Given the description of an element on the screen output the (x, y) to click on. 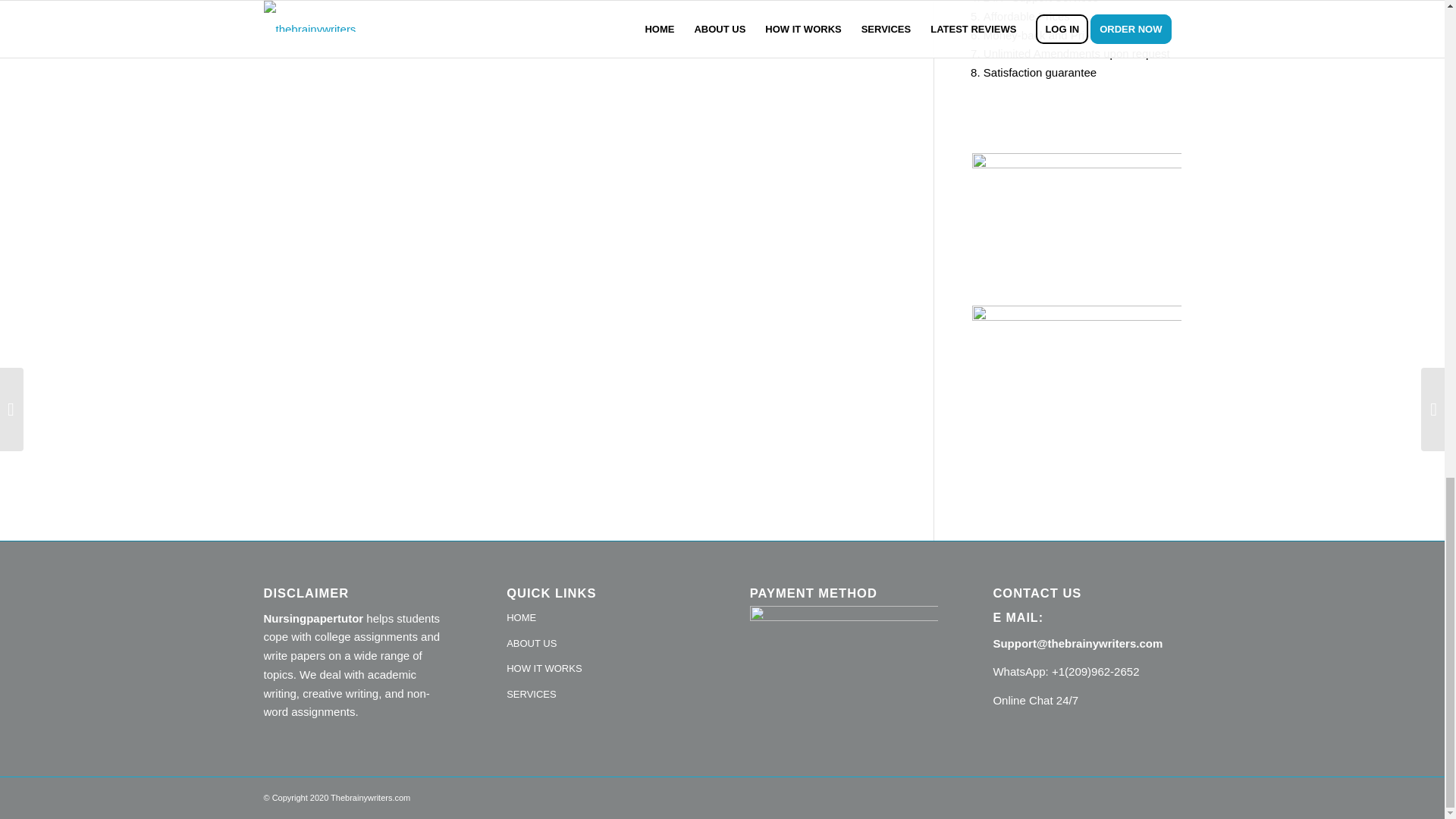
HOW IT WORKS (600, 669)
SERVICES (600, 695)
ABOUT US (600, 644)
HOME (600, 618)
